Given the description of an element on the screen output the (x, y) to click on. 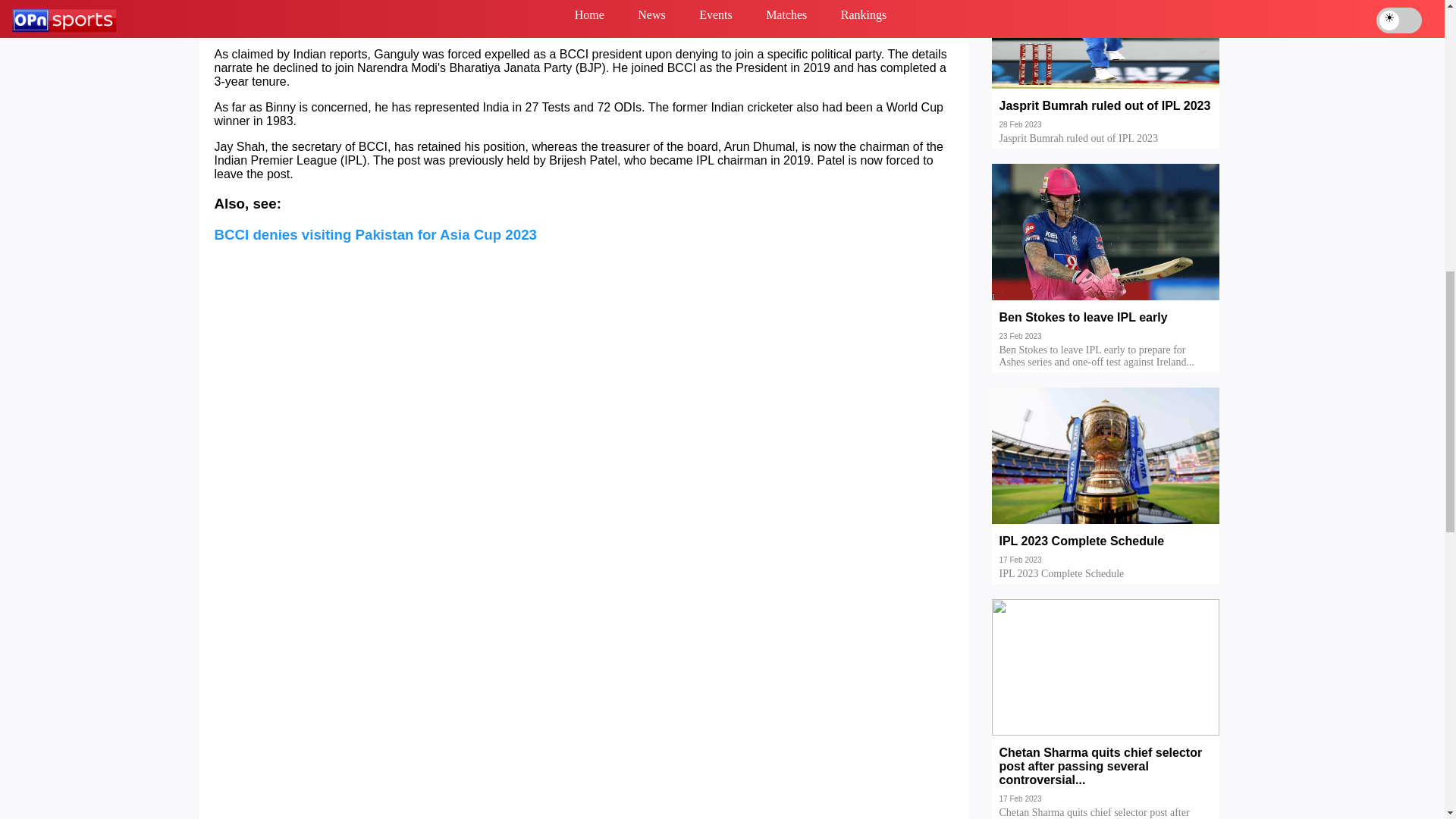
IPL 2023 Complete Schedule (1105, 551)
Ben Stokes to leave IPL early (1105, 328)
Jasprit Bumrah ruled out of IPL 2023 (1105, 116)
BCCI denies visiting Pakistan for Asia Cup 2023 (374, 234)
